Given the description of an element on the screen output the (x, y) to click on. 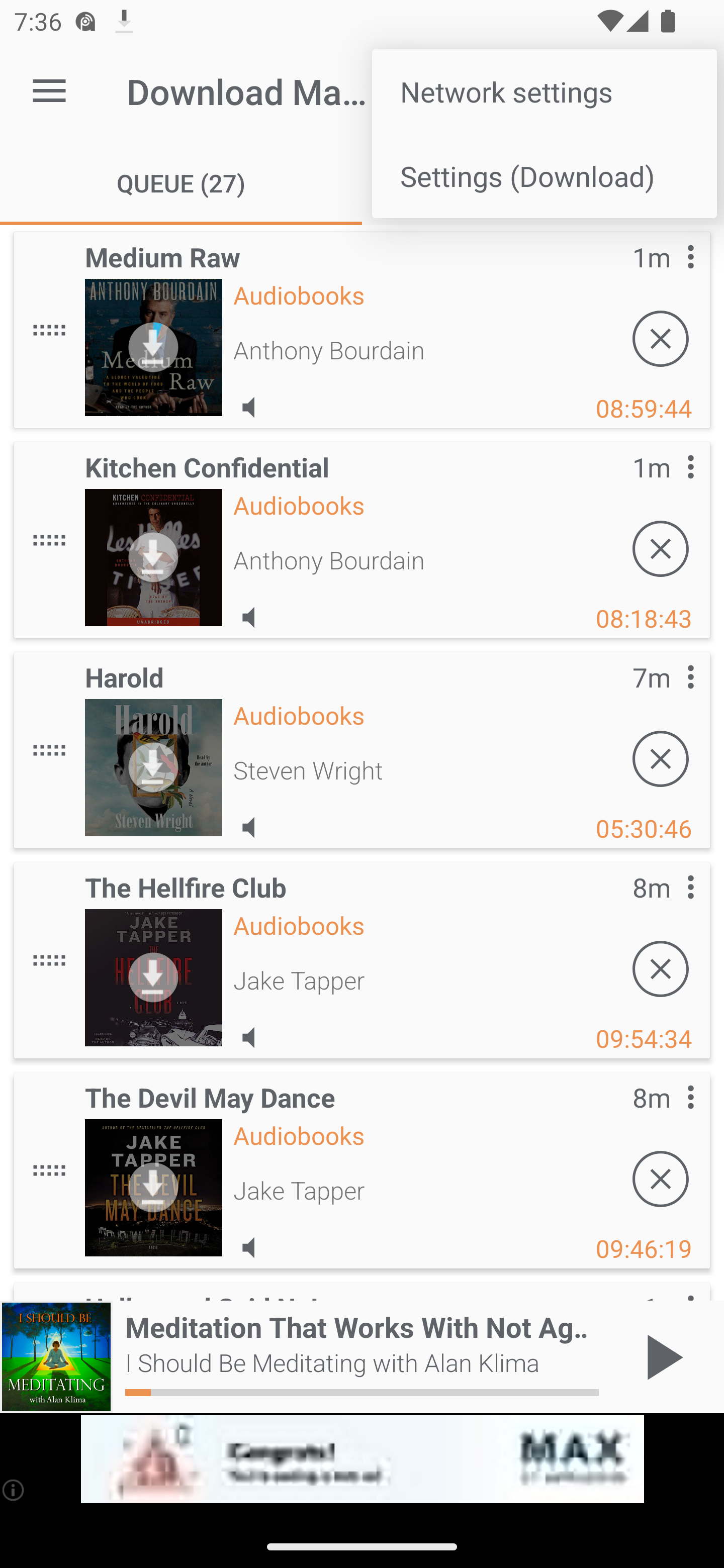
Network settings (544, 90)
Settings (Download) (544, 175)
